Given the description of an element on the screen output the (x, y) to click on. 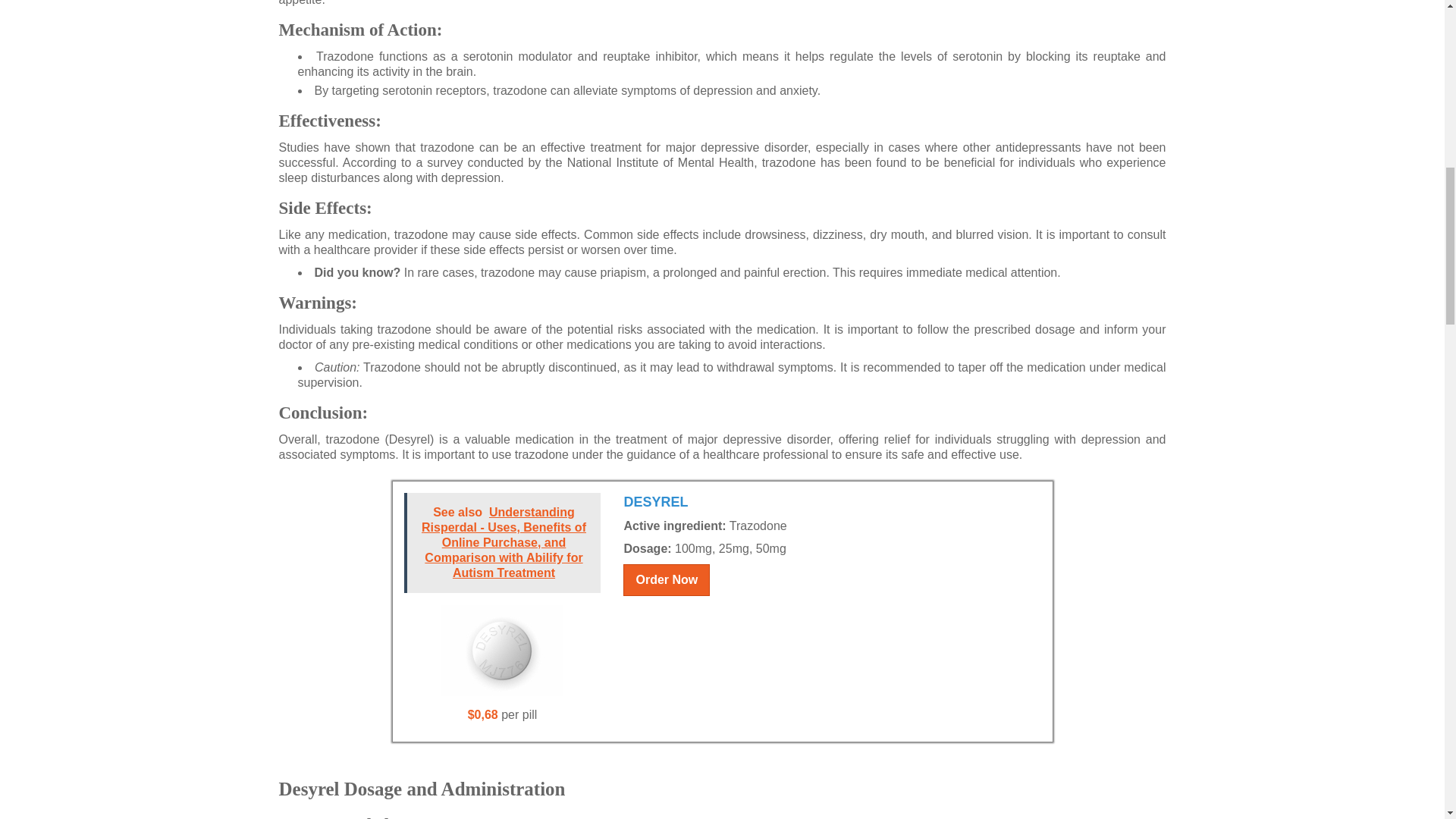
Order Now (666, 580)
